Given the description of an element on the screen output the (x, y) to click on. 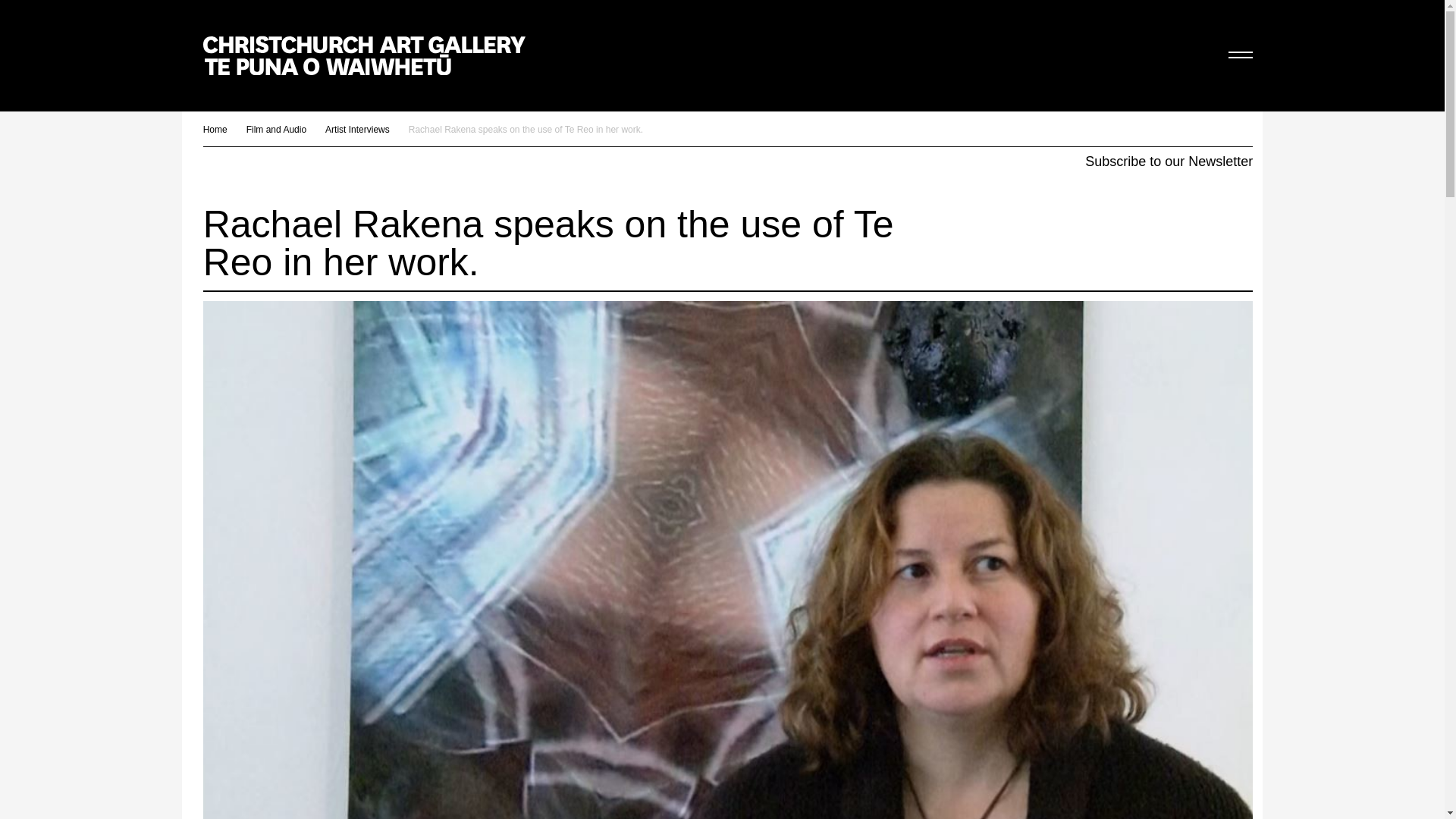
Subscribe to our Newsletter (1168, 160)
Home (215, 129)
Film and Audio (275, 129)
Rachael Rakena speaks on the use of Te Reo in her work. (526, 129)
Artist Interviews (357, 129)
